Given the description of an element on the screen output the (x, y) to click on. 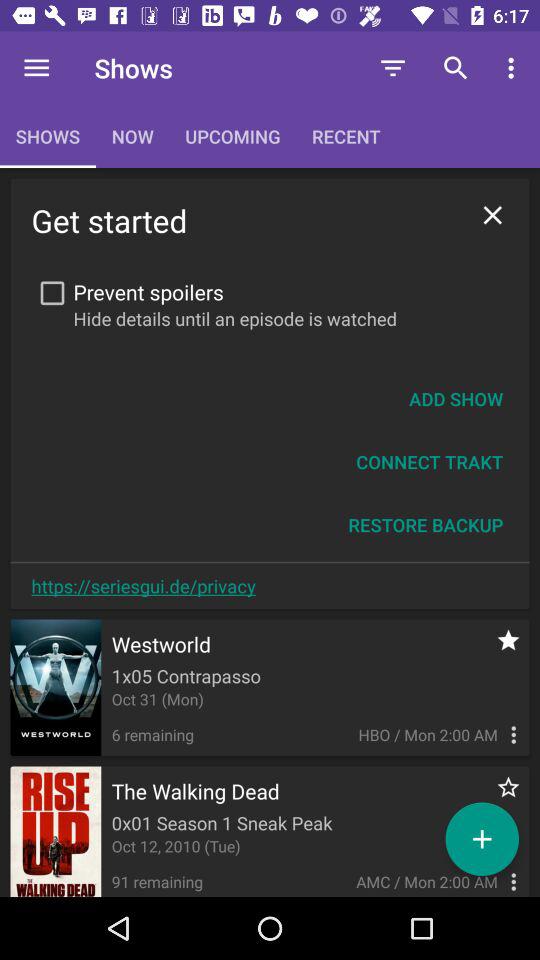
choose the icon next to westworld icon (497, 650)
